Given the description of an element on the screen output the (x, y) to click on. 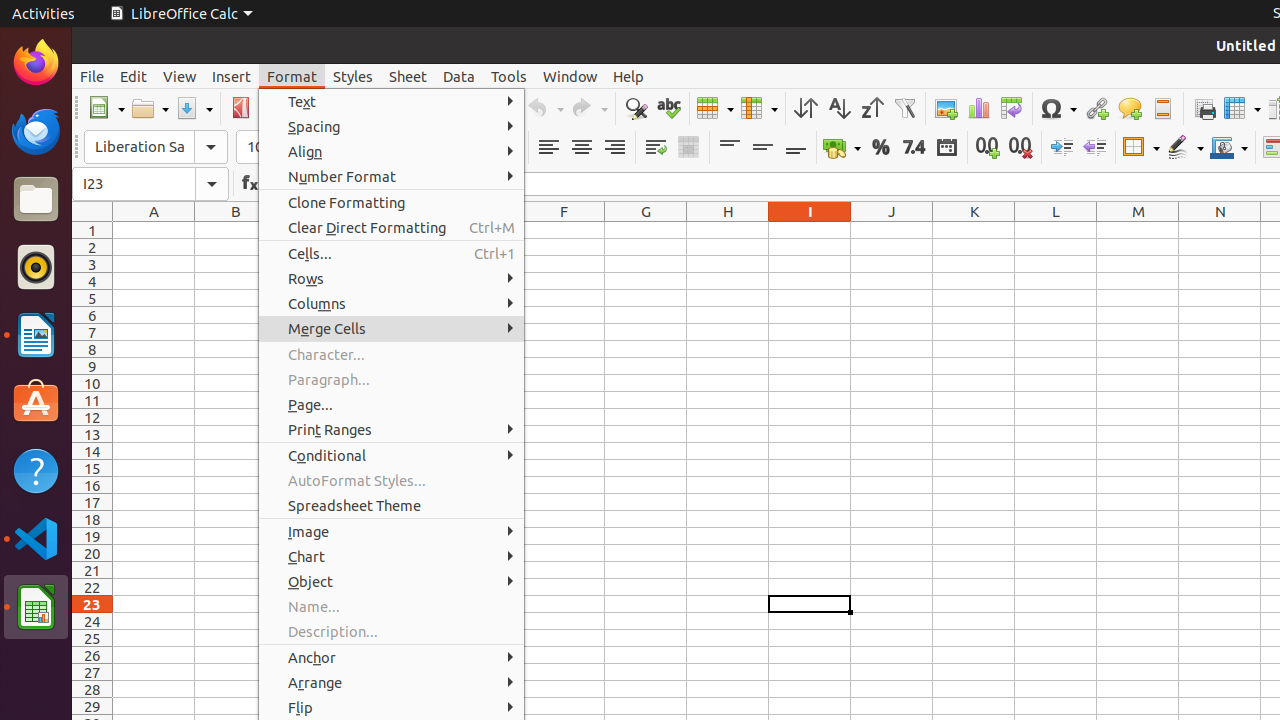
Insert Element type: menu (231, 76)
Decrease Element type: push-button (1094, 147)
LibreOffice Calc Element type: push-button (36, 607)
Wrap Text Element type: push-button (655, 147)
Text Element type: menu (391, 101)
